Given the description of an element on the screen output the (x, y) to click on. 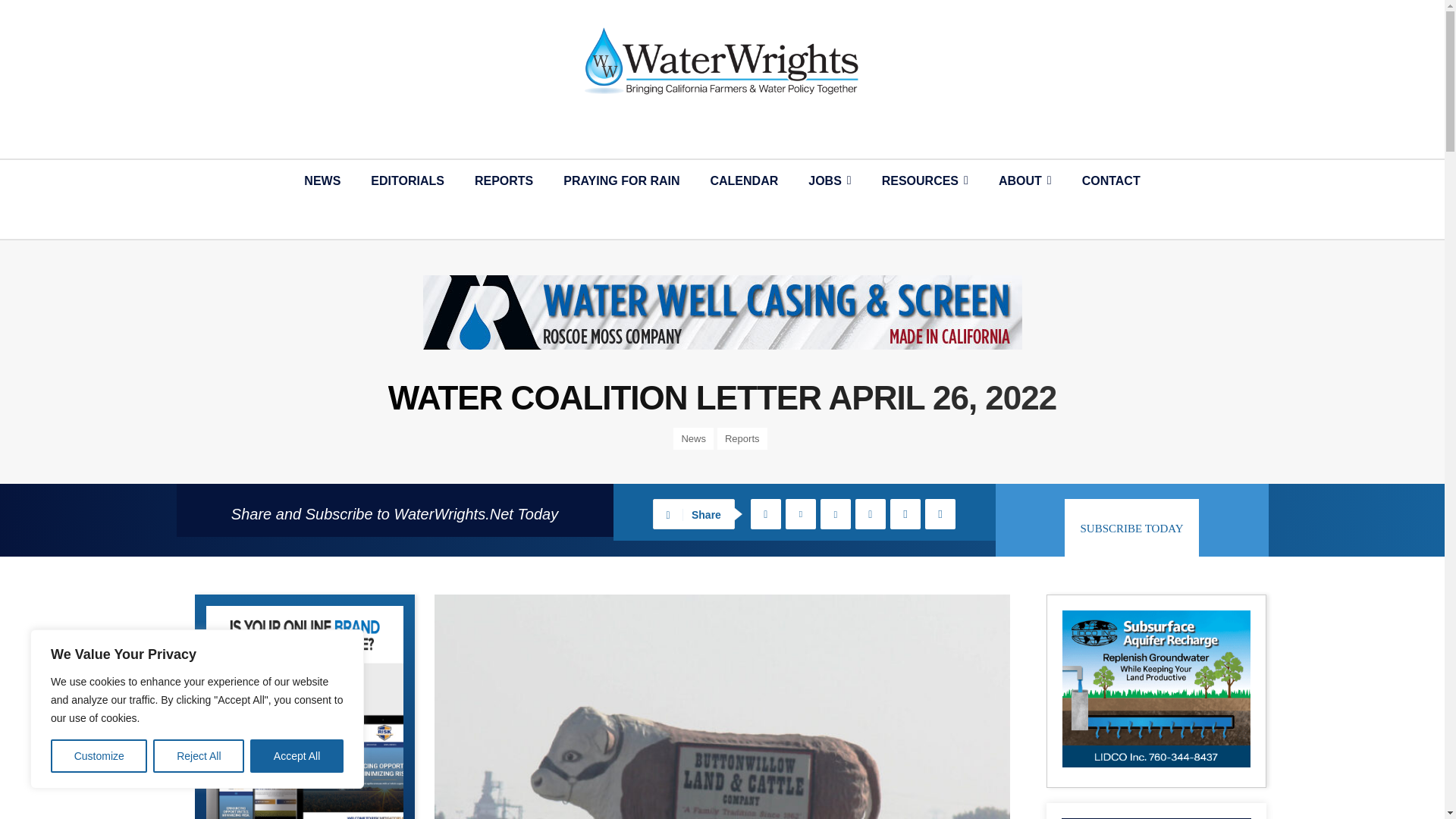
Reject All (198, 756)
Facebook (765, 513)
Pinterest (835, 513)
Welcome to WaterWrights (722, 60)
Print (939, 513)
Only cow left (721, 706)
Accept All (296, 756)
Twitter (800, 513)
Email (904, 513)
Customize (98, 756)
Linkedin (870, 513)
